Given the description of an element on the screen output the (x, y) to click on. 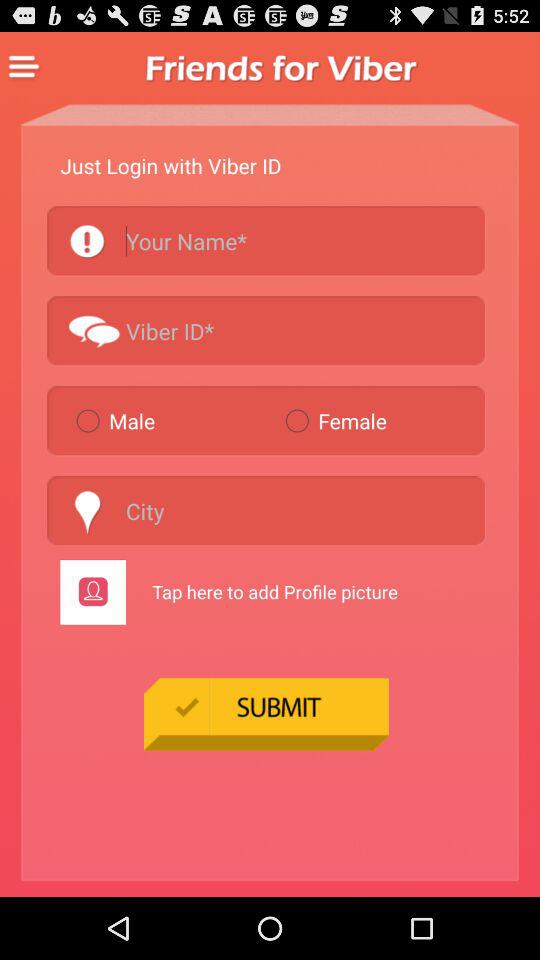
turn off the app below the tap here to app (266, 713)
